Given the description of an element on the screen output the (x, y) to click on. 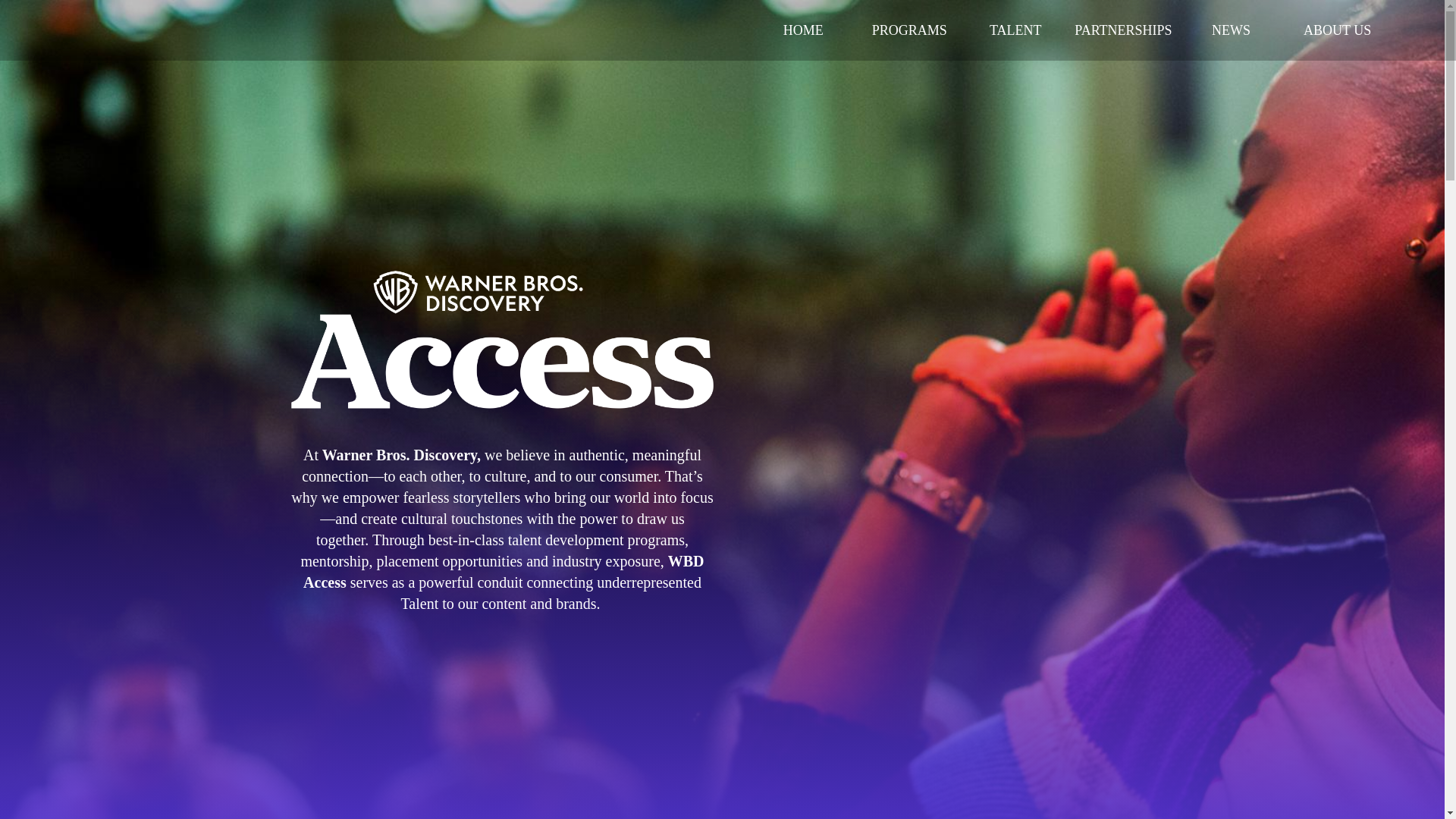
TALENT (1015, 30)
PARTNERSHIPS (1122, 30)
Welcome to Warner Media Access (502, 333)
ABOUT US (1337, 30)
NEWS (1230, 30)
HOME (802, 30)
PROGRAMS (909, 30)
